Given the description of an element on the screen output the (x, y) to click on. 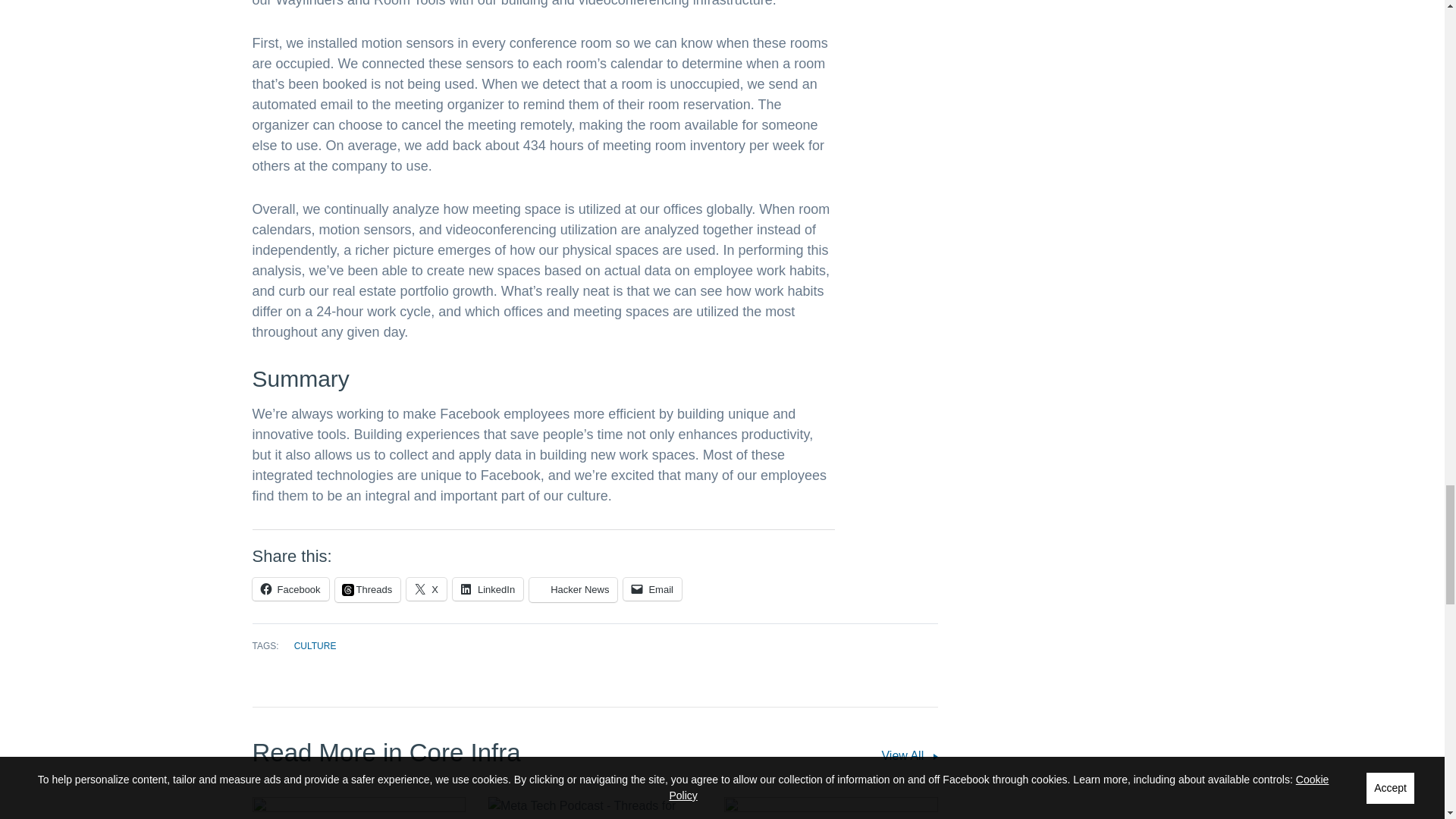
Threads (367, 589)
Facebook (290, 589)
